Given the description of an element on the screen output the (x, y) to click on. 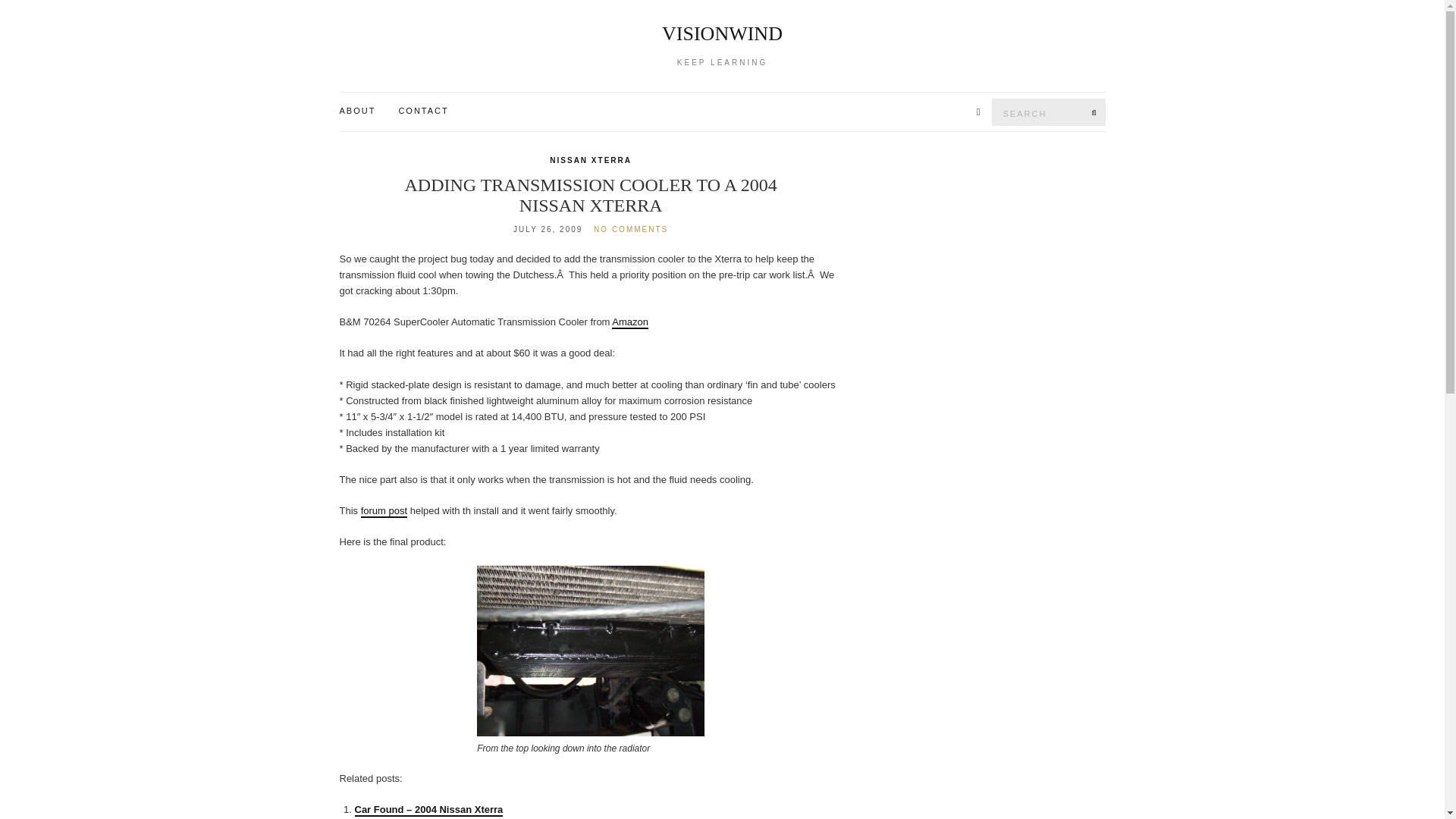
CONTACT (422, 110)
NISSAN XTERRA (590, 160)
ABOUT (357, 110)
B and M Transmission Cooler on 2004 Nissan Xterra (590, 650)
NO COMMENTS (631, 229)
forum post (384, 511)
VISIONWIND (722, 33)
Amazon (629, 322)
